Given the description of an element on the screen output the (x, y) to click on. 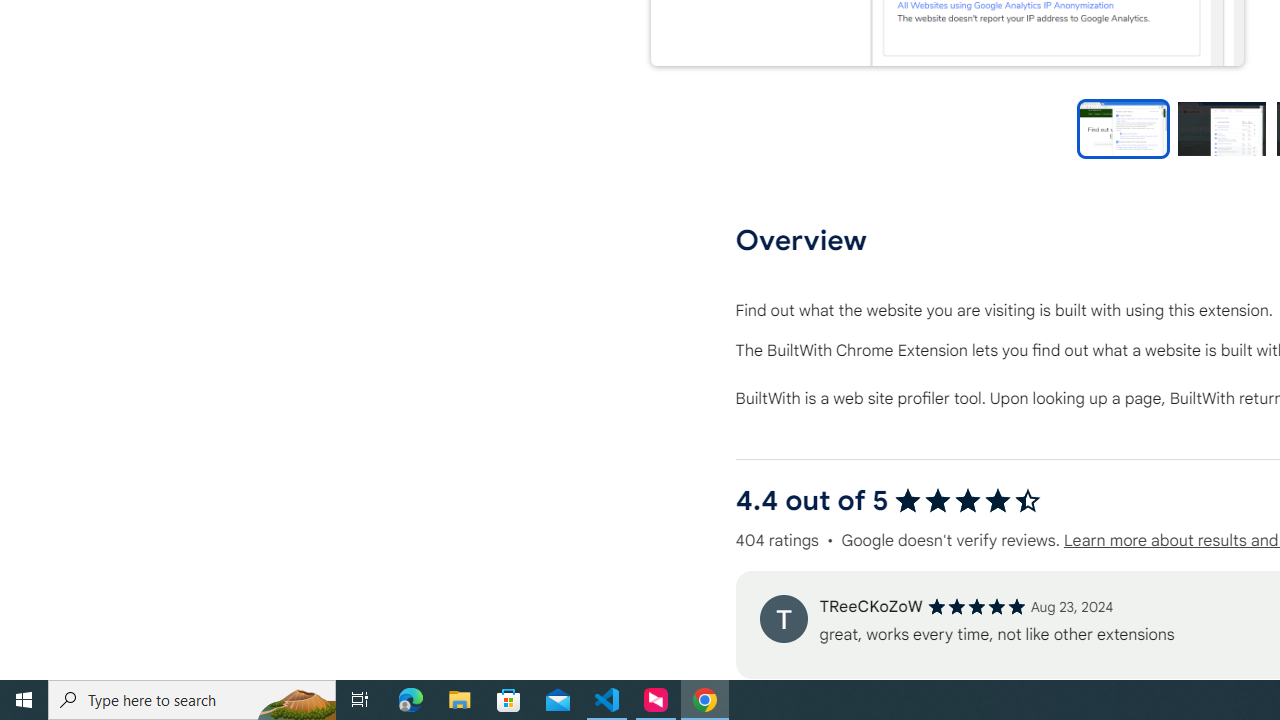
5 out of 5 stars (975, 606)
Review's profile picture (783, 618)
Preview slide 2 (1221, 128)
Preview slide 1 (1123, 128)
4.4 out of 5 stars (967, 500)
